Given the description of an element on the screen output the (x, y) to click on. 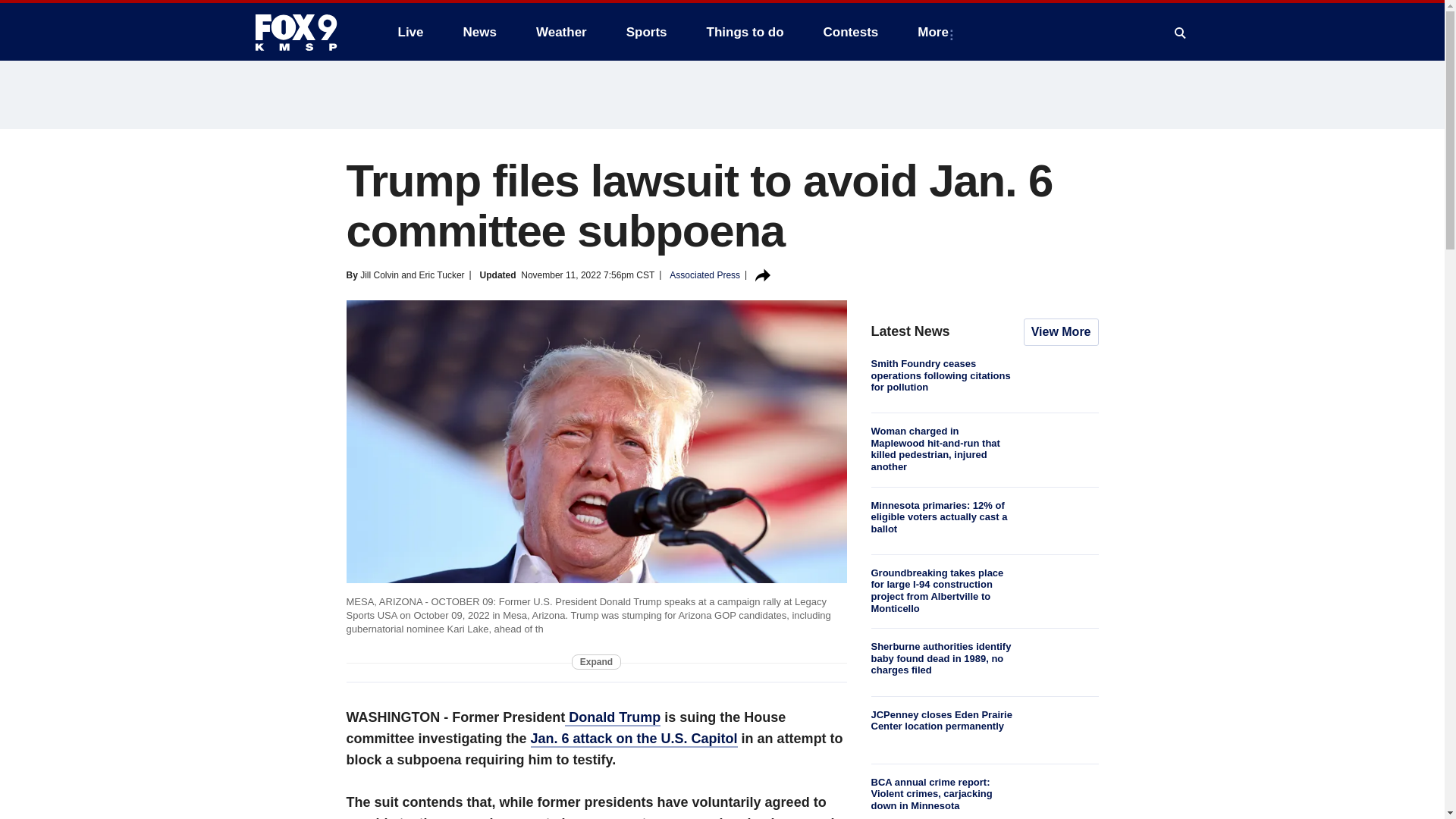
Sports (646, 32)
Things to do (745, 32)
Live (410, 32)
Weather (561, 32)
More (935, 32)
News (479, 32)
Contests (850, 32)
